Given the description of an element on the screen output the (x, y) to click on. 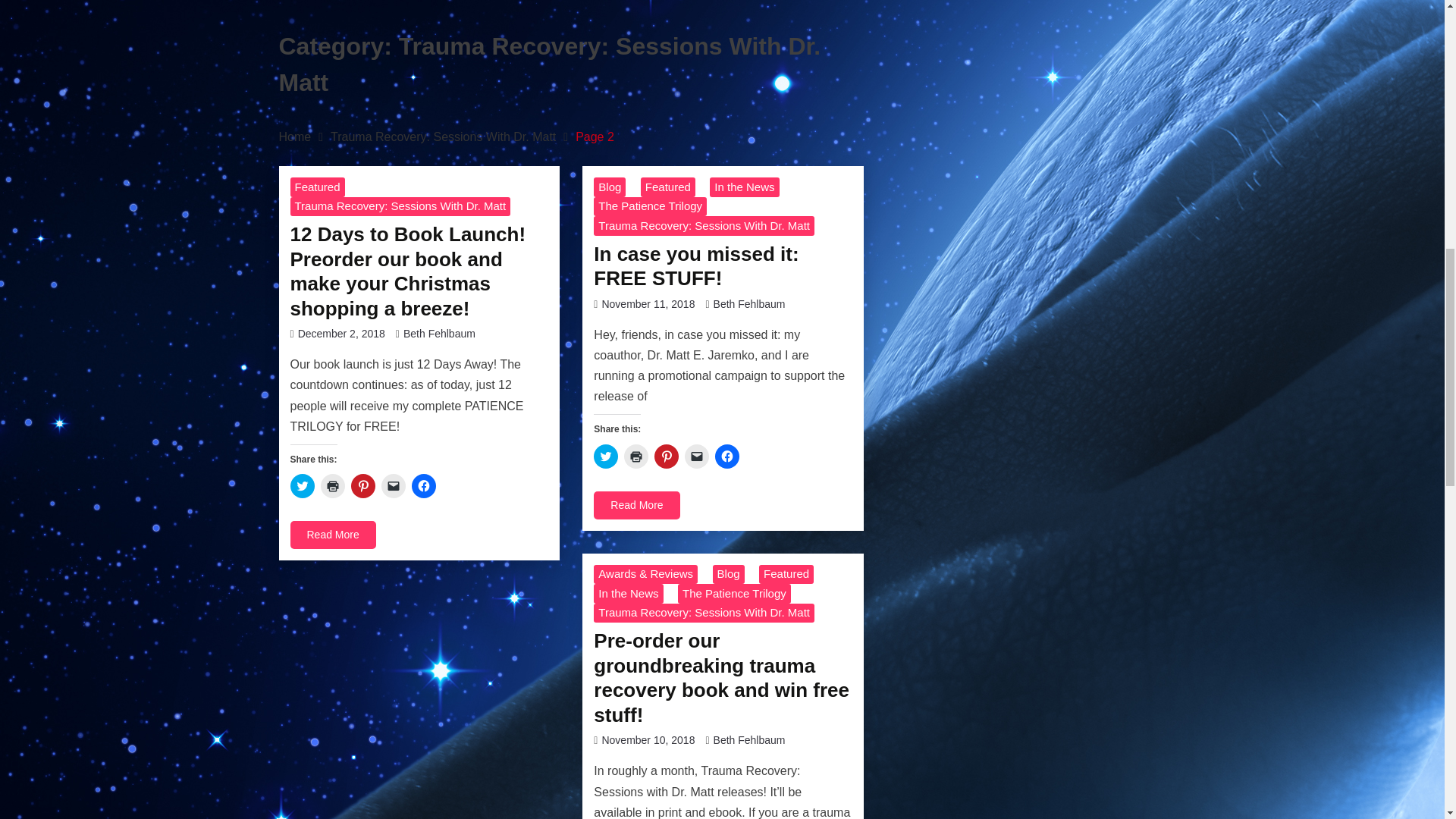
Click to print (635, 456)
December 2, 2018 (341, 333)
Click to print (331, 485)
Click to share on Facebook (422, 485)
Page 2 (594, 136)
Featured (316, 187)
Home (295, 136)
Trauma Recovery: Sessions With Dr. Matt (443, 136)
Click to email a link to a friend (696, 456)
Click to share on Pinterest (665, 456)
